Given the description of an element on the screen output the (x, y) to click on. 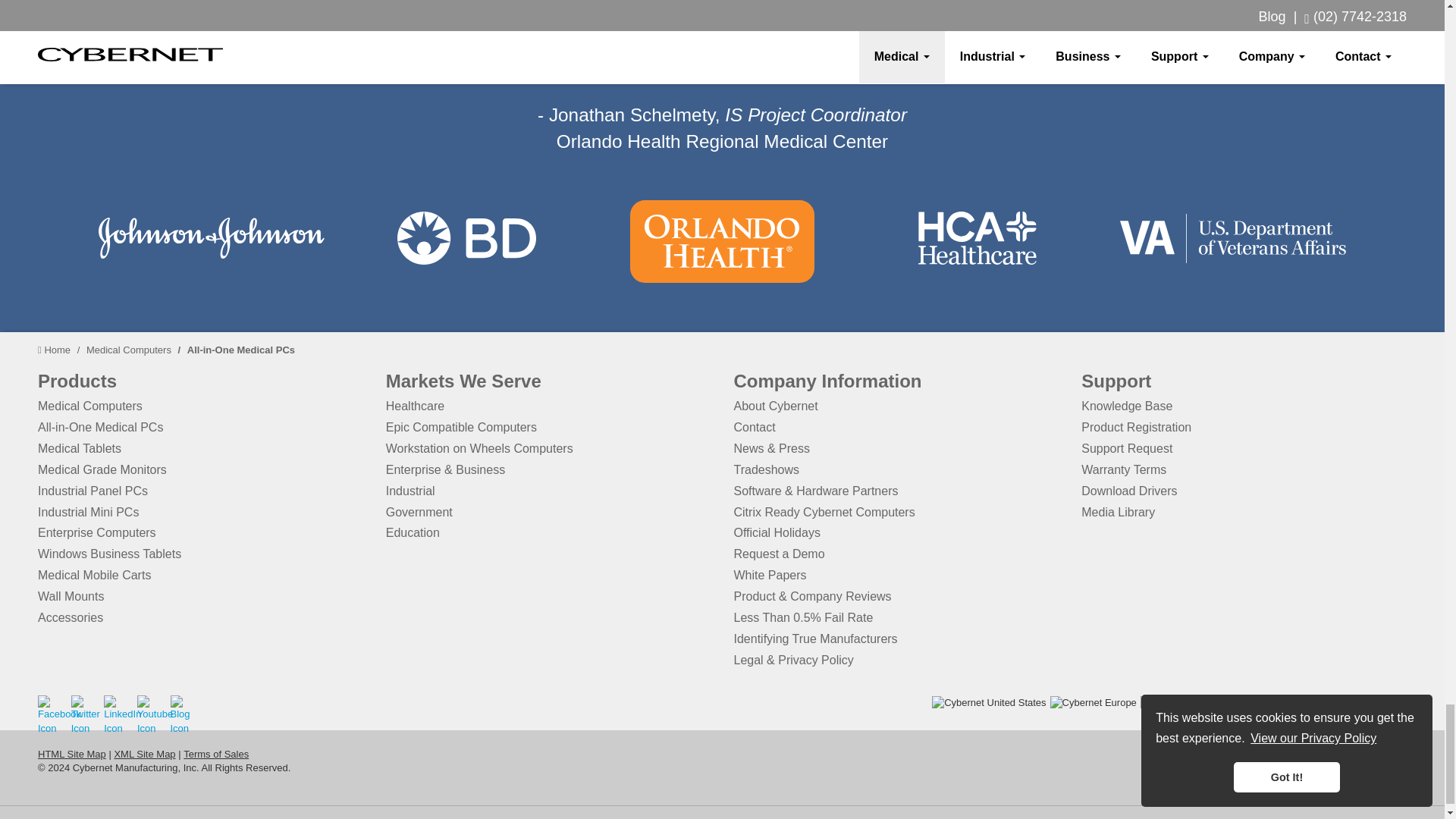
Cybernet Australia (1360, 703)
